Given the description of an element on the screen output the (x, y) to click on. 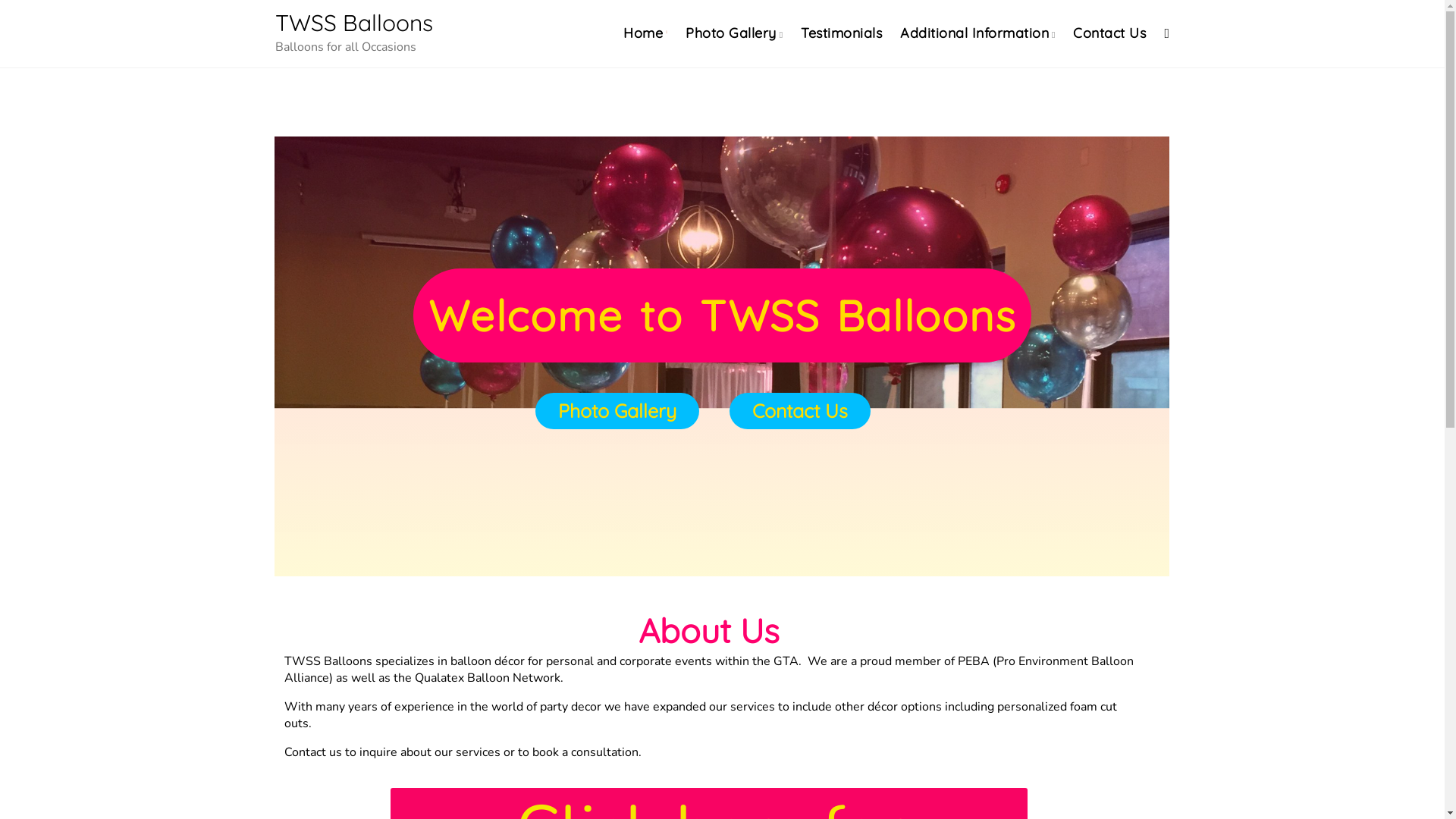
Home Element type: text (642, 32)
Testimonials Element type: text (840, 32)
TWSS Balloons Element type: text (353, 22)
Contact Us Element type: text (799, 410)
Additional Information Element type: text (974, 32)
Photo Gallery Element type: text (617, 410)
Search the website Element type: hover (1166, 32)
Photo Gallery Element type: text (730, 32)
Contact Us Element type: text (1109, 32)
